Given the description of an element on the screen output the (x, y) to click on. 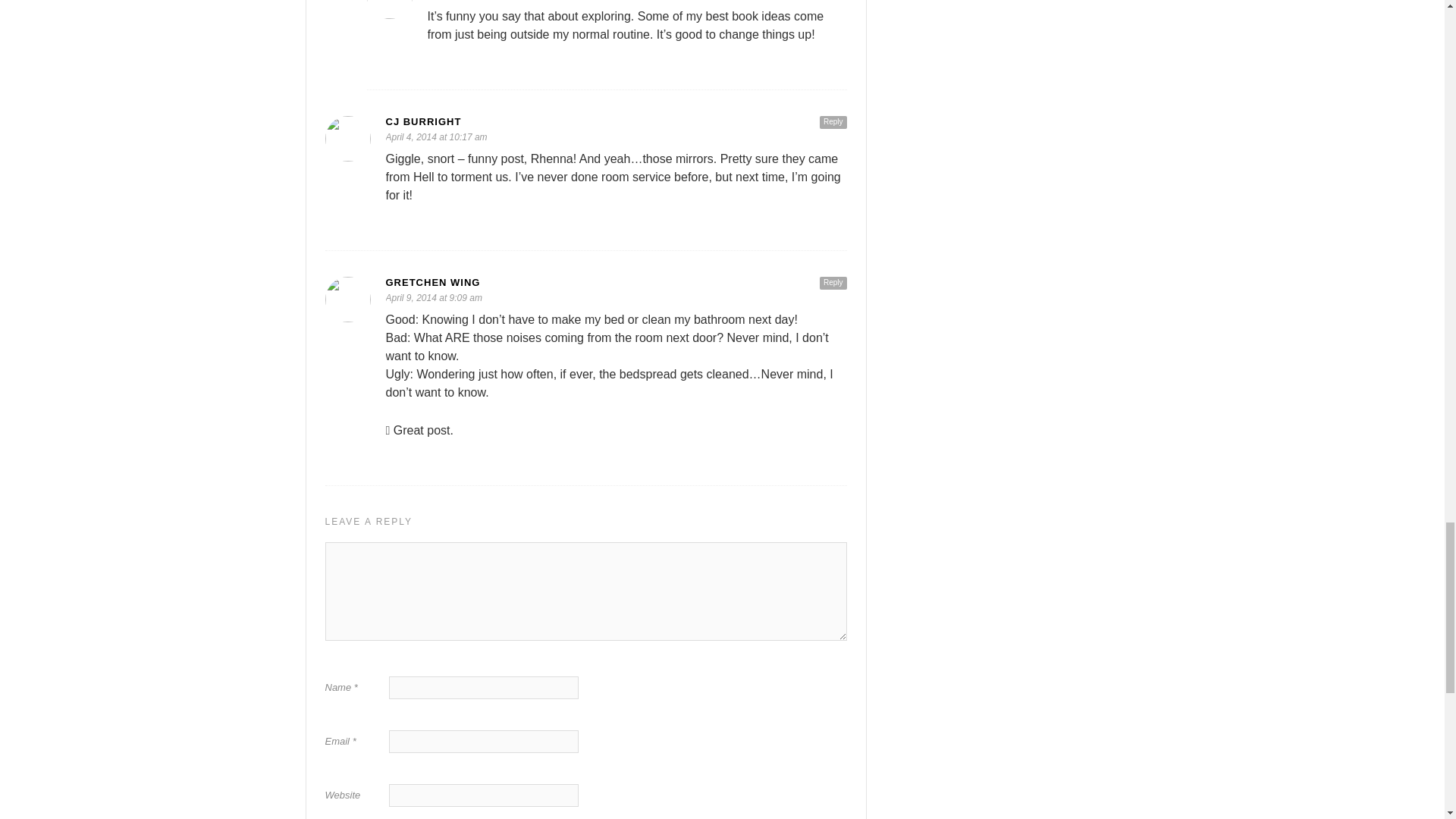
Reply (833, 122)
Reply (833, 282)
CJ BURRIGHT (615, 121)
